Given the description of an element on the screen output the (x, y) to click on. 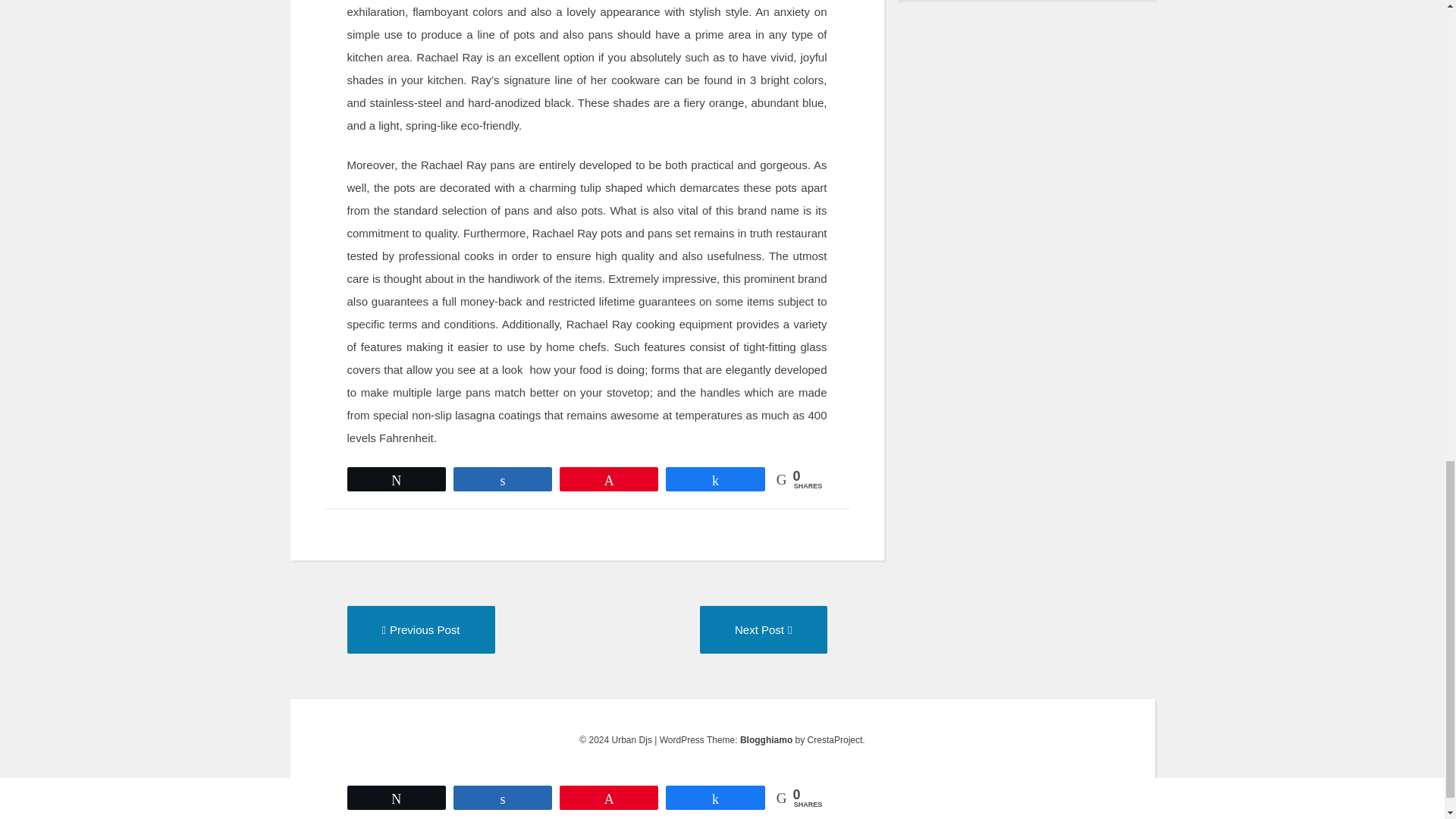
Blogghiamo (765, 739)
Proficient inpatient treatments for drug rehab center (421, 629)
Butchers Block Cheese Boards (763, 629)
